Given the description of an element on the screen output the (x, y) to click on. 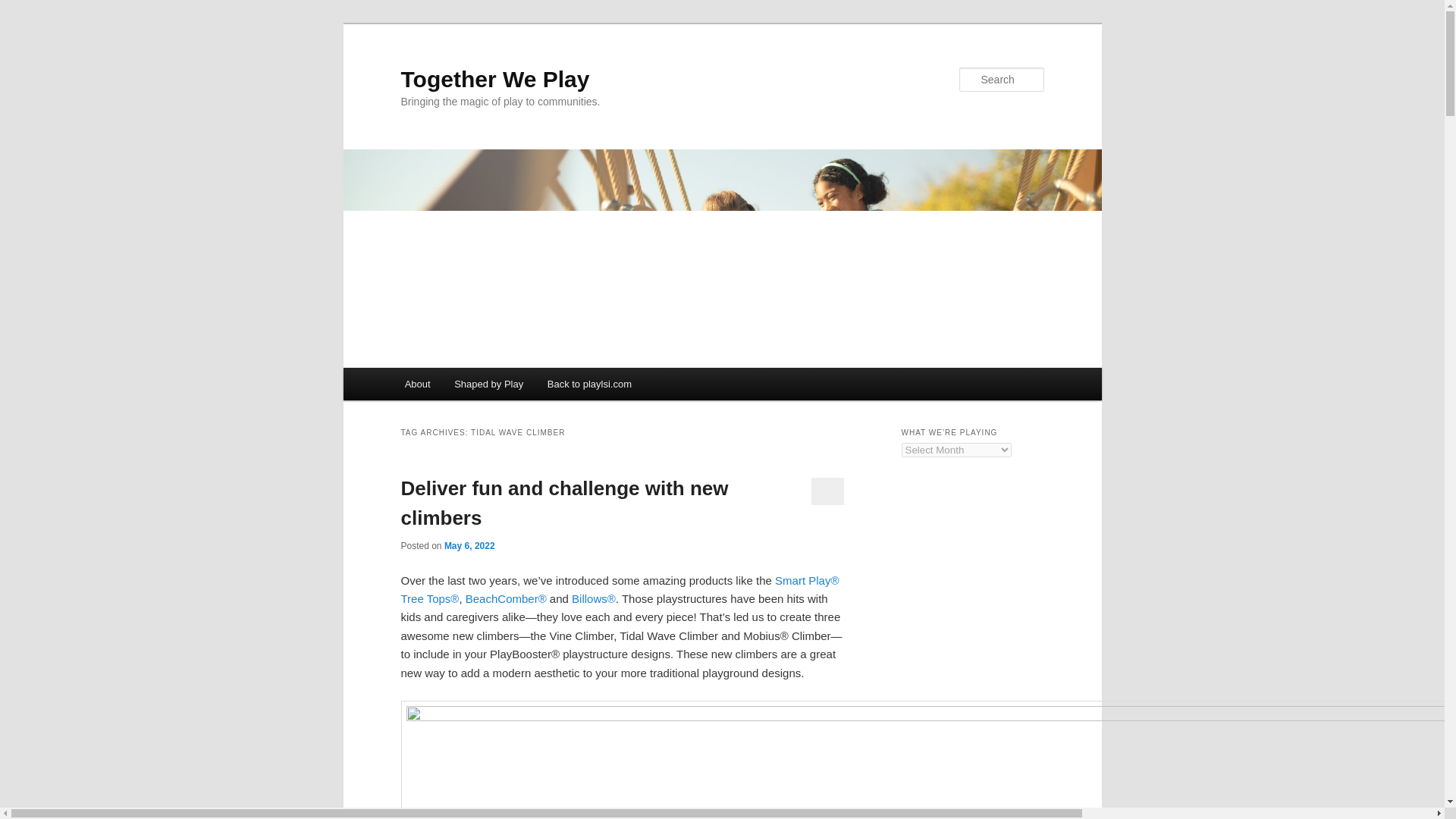
Together We Play (494, 78)
About (417, 383)
Deliver fun and challenge with new climbers (564, 502)
Shaped by Play (488, 383)
1:30 pm (469, 545)
May 6, 2022 (469, 545)
Search (24, 8)
Back to playlsi.com (589, 383)
